Given the description of an element on the screen output the (x, y) to click on. 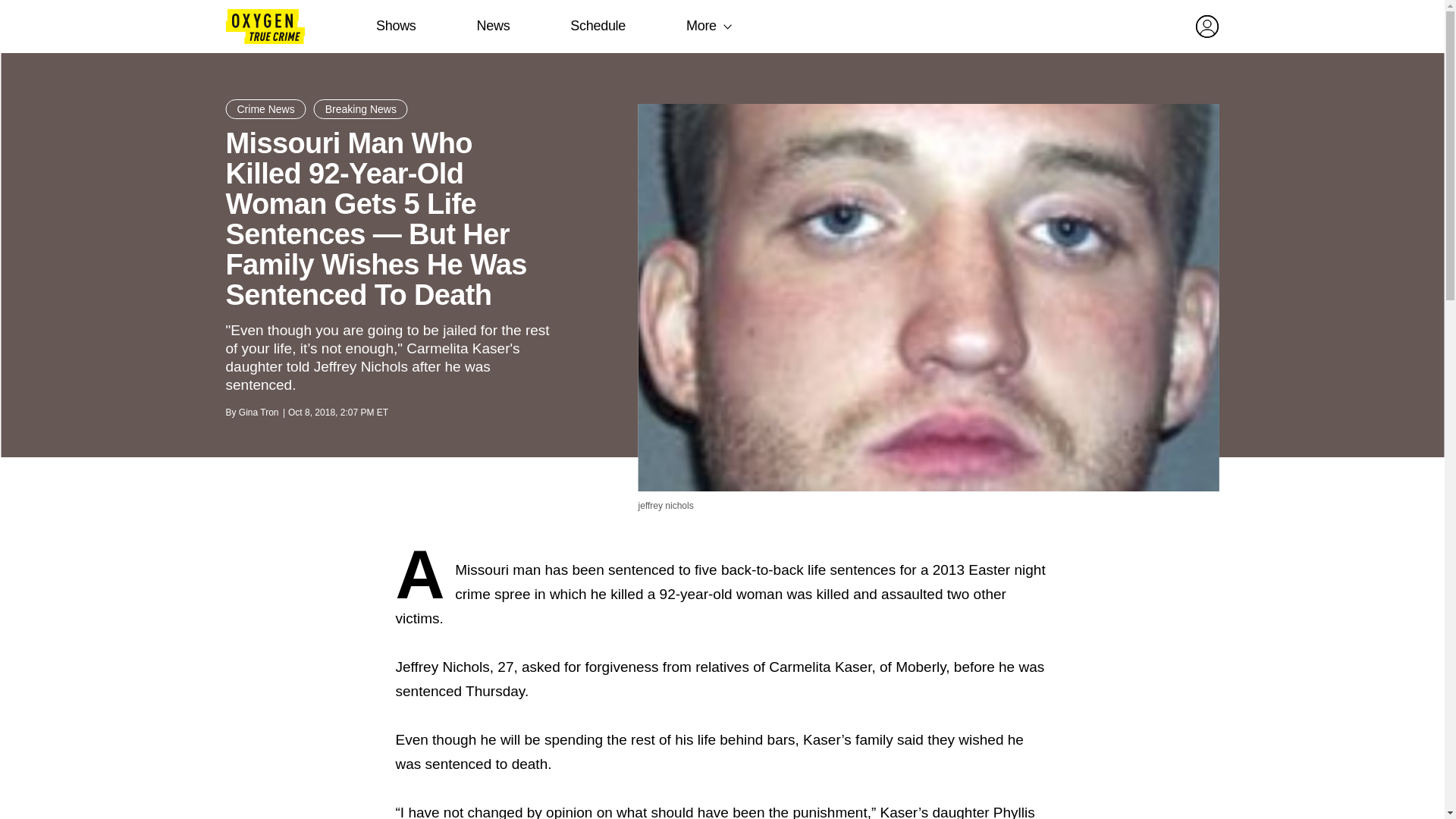
Shows (395, 26)
Crime News (265, 108)
More (700, 26)
Gina Tron (258, 412)
Breaking News (360, 108)
News (492, 26)
Schedule (598, 26)
